Given the description of an element on the screen output the (x, y) to click on. 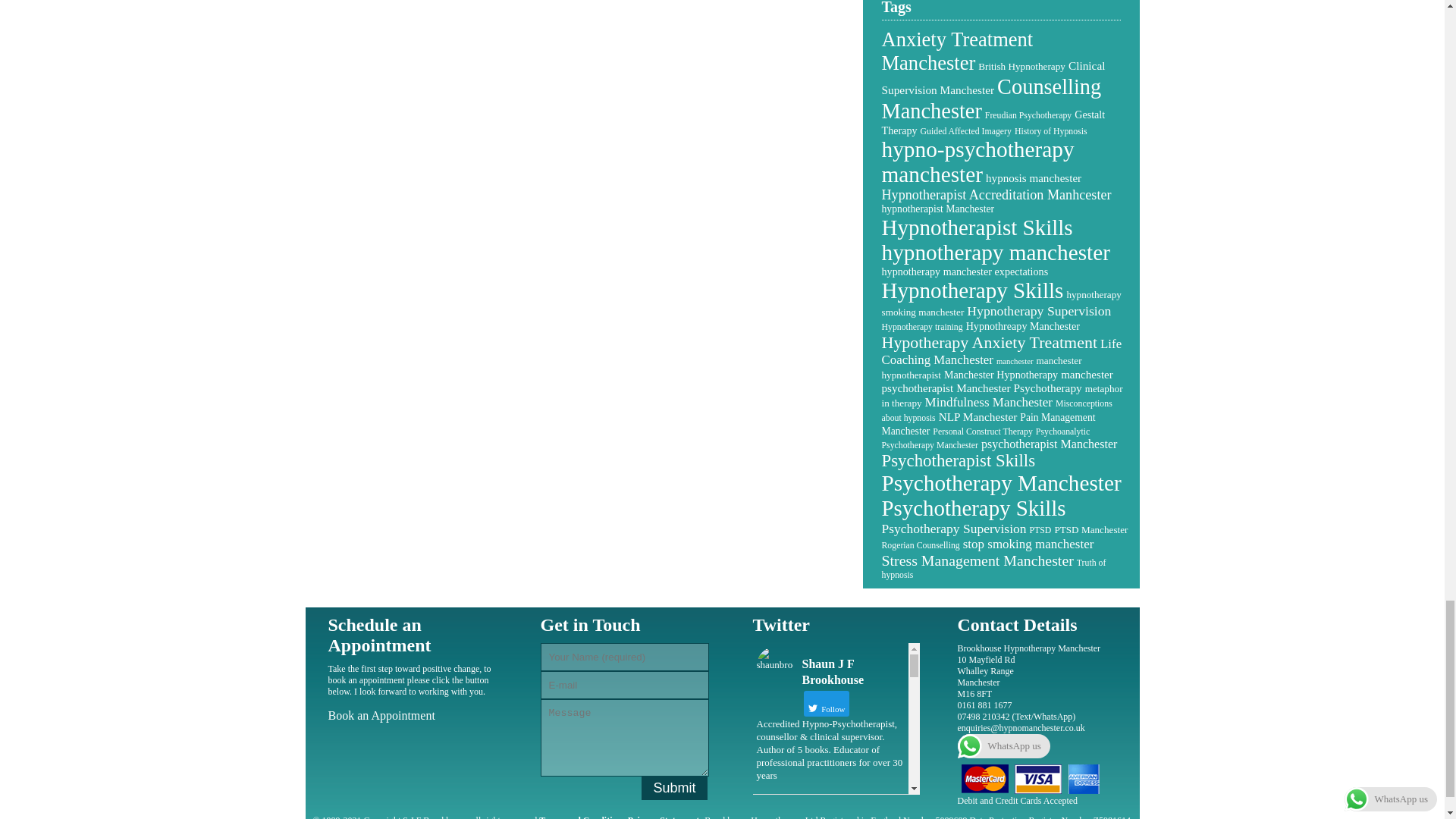
Submit (674, 788)
